Given the description of an element on the screen output the (x, y) to click on. 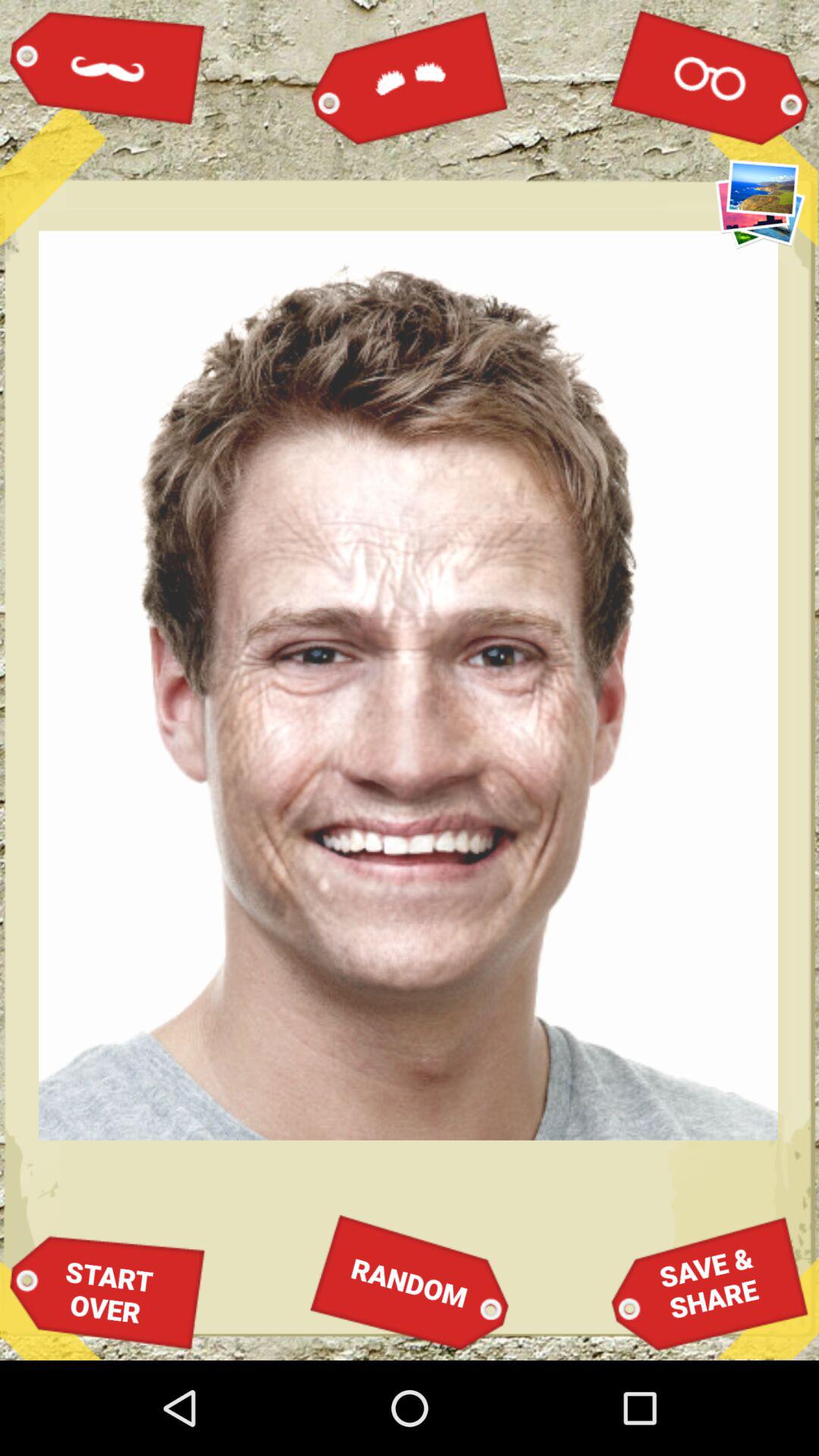
click the icon above the random icon (409, 77)
